Given the description of an element on the screen output the (x, y) to click on. 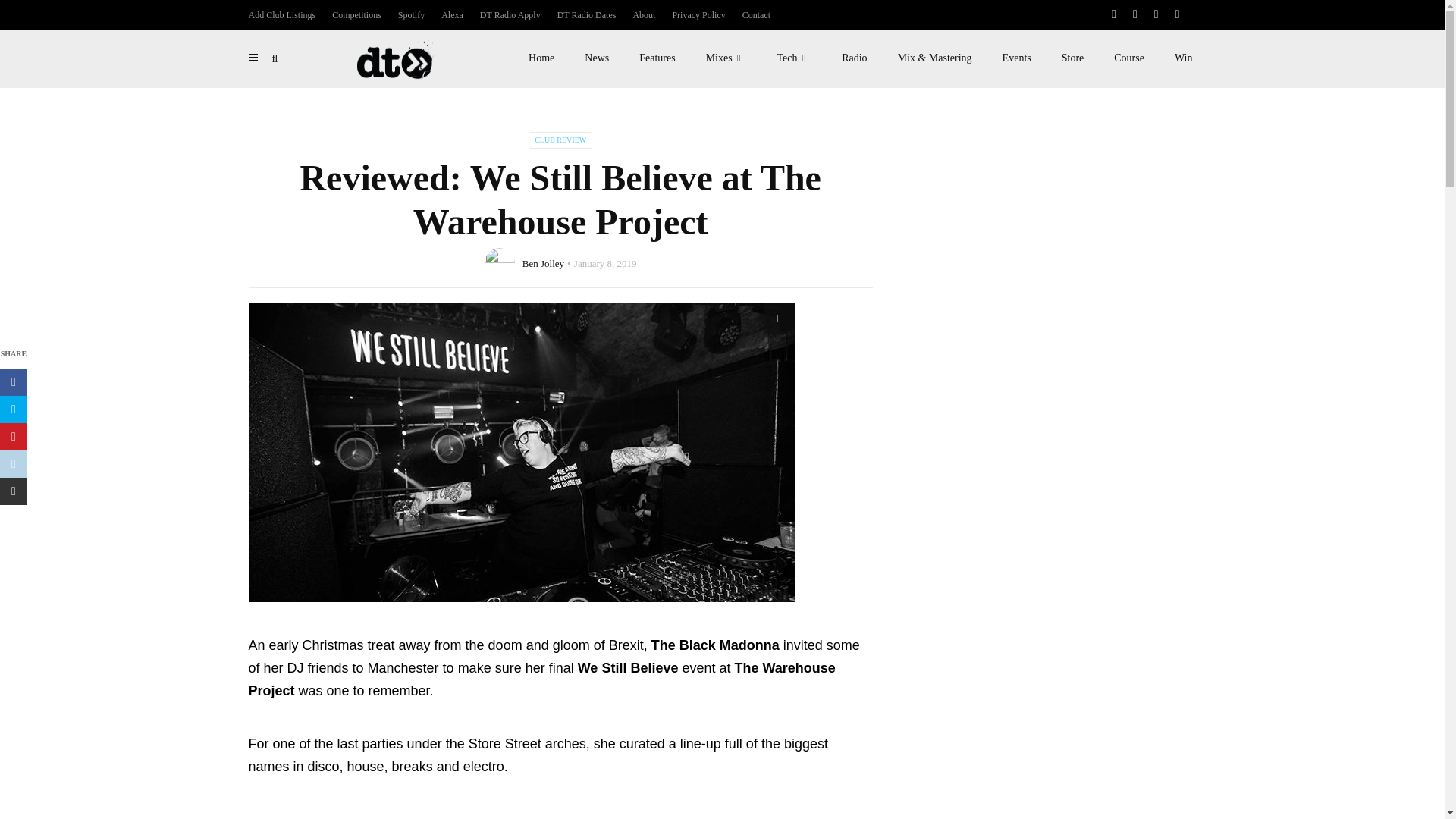
Home (541, 57)
News (596, 57)
Mixes (725, 57)
Features (657, 57)
Events (1016, 57)
Store (1072, 57)
Radio (854, 57)
Course (1128, 57)
Tech (794, 57)
